Given the description of an element on the screen output the (x, y) to click on. 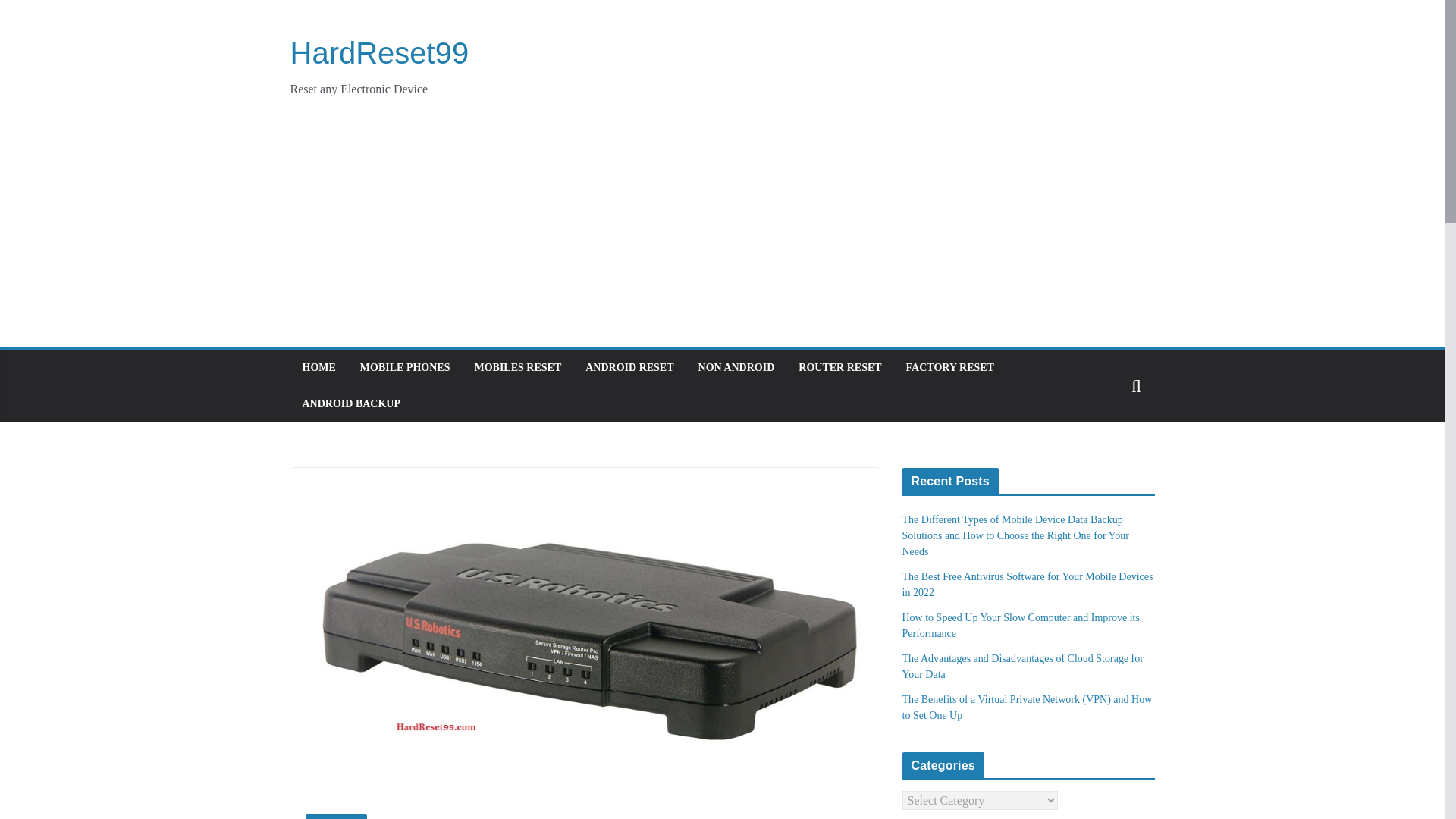
US-ROBOTICS (335, 816)
ANDROID RESET (628, 367)
FACTORY RESET (949, 367)
MOBILE PHONES (404, 367)
ANDROID BACKUP (350, 403)
HOME (317, 367)
HardReset99 (378, 52)
HardReset99 (378, 52)
MOBILES RESET (517, 367)
ROUTER RESET (838, 367)
NON ANDROID (736, 367)
